Given the description of an element on the screen output the (x, y) to click on. 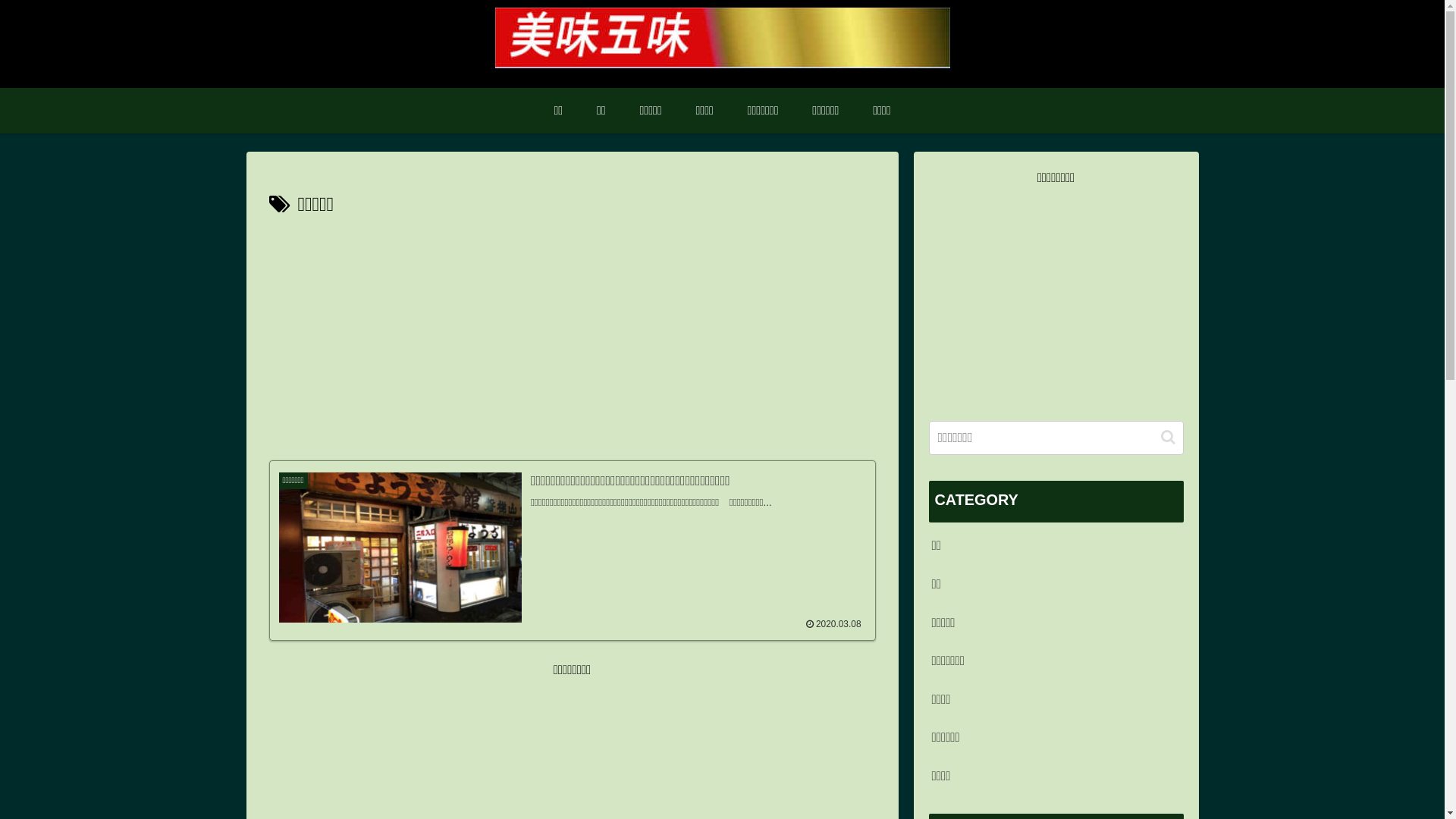
Advertisement Element type: hover (571, 335)
Advertisement Element type: hover (1055, 296)
